Given the description of an element on the screen output the (x, y) to click on. 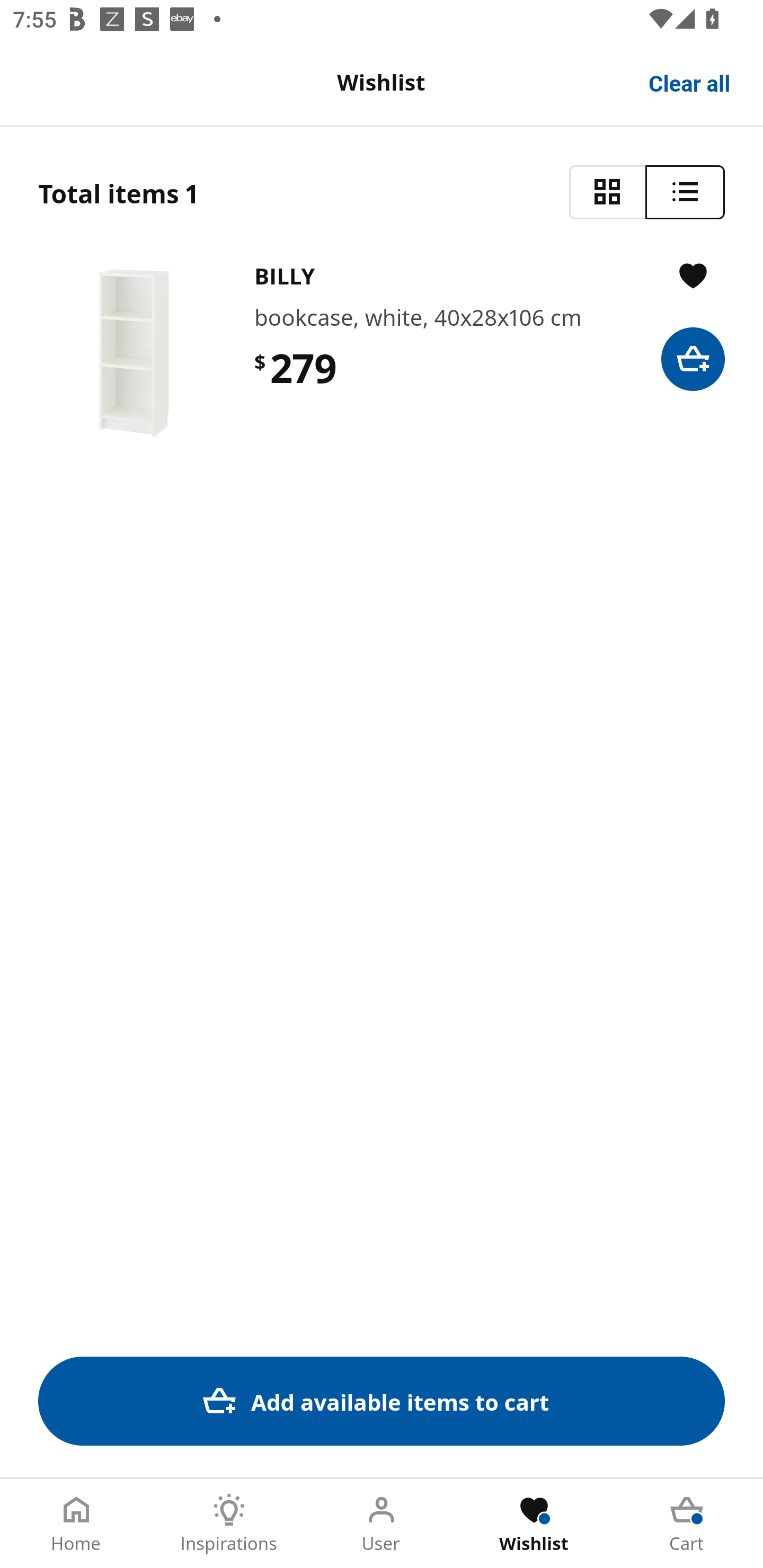
Clear all (689, 81)
​B​I​L​L​Y​
bookcase, white, 40x28x106 cm
$
279 (381, 352)
Add available items to cart (381, 1400)
Home
Tab 1 of 5 (76, 1522)
Inspirations
Tab 2 of 5 (228, 1522)
User
Tab 3 of 5 (381, 1522)
Wishlist
Tab 4 of 5 (533, 1522)
Cart
Tab 5 of 5 (686, 1522)
